Given the description of an element on the screen output the (x, y) to click on. 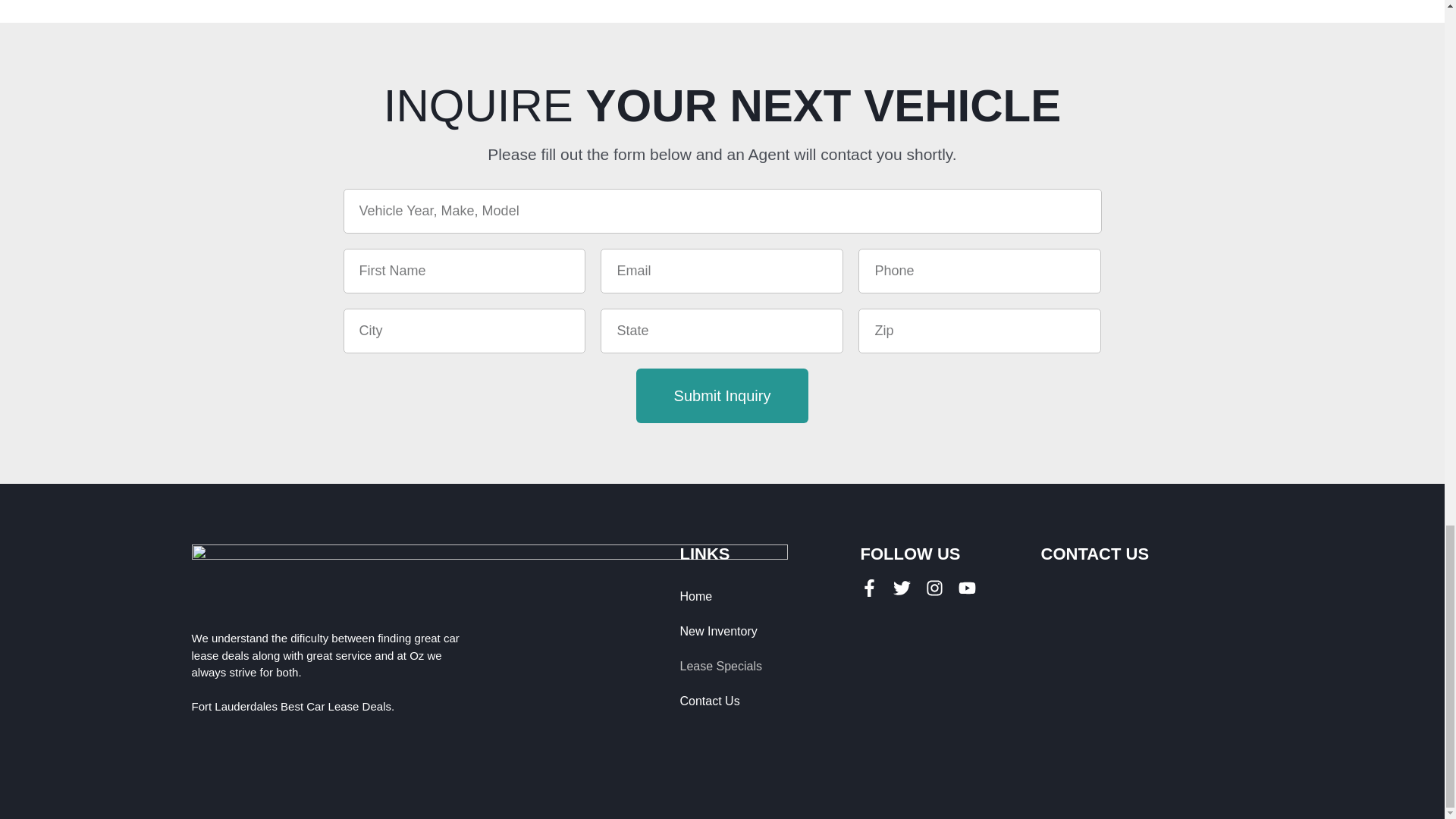
Contact Us (720, 701)
Lease Specials (720, 666)
New Inventory (720, 631)
Submit Inquiry (722, 395)
Home (720, 596)
